Given the description of an element on the screen output the (x, y) to click on. 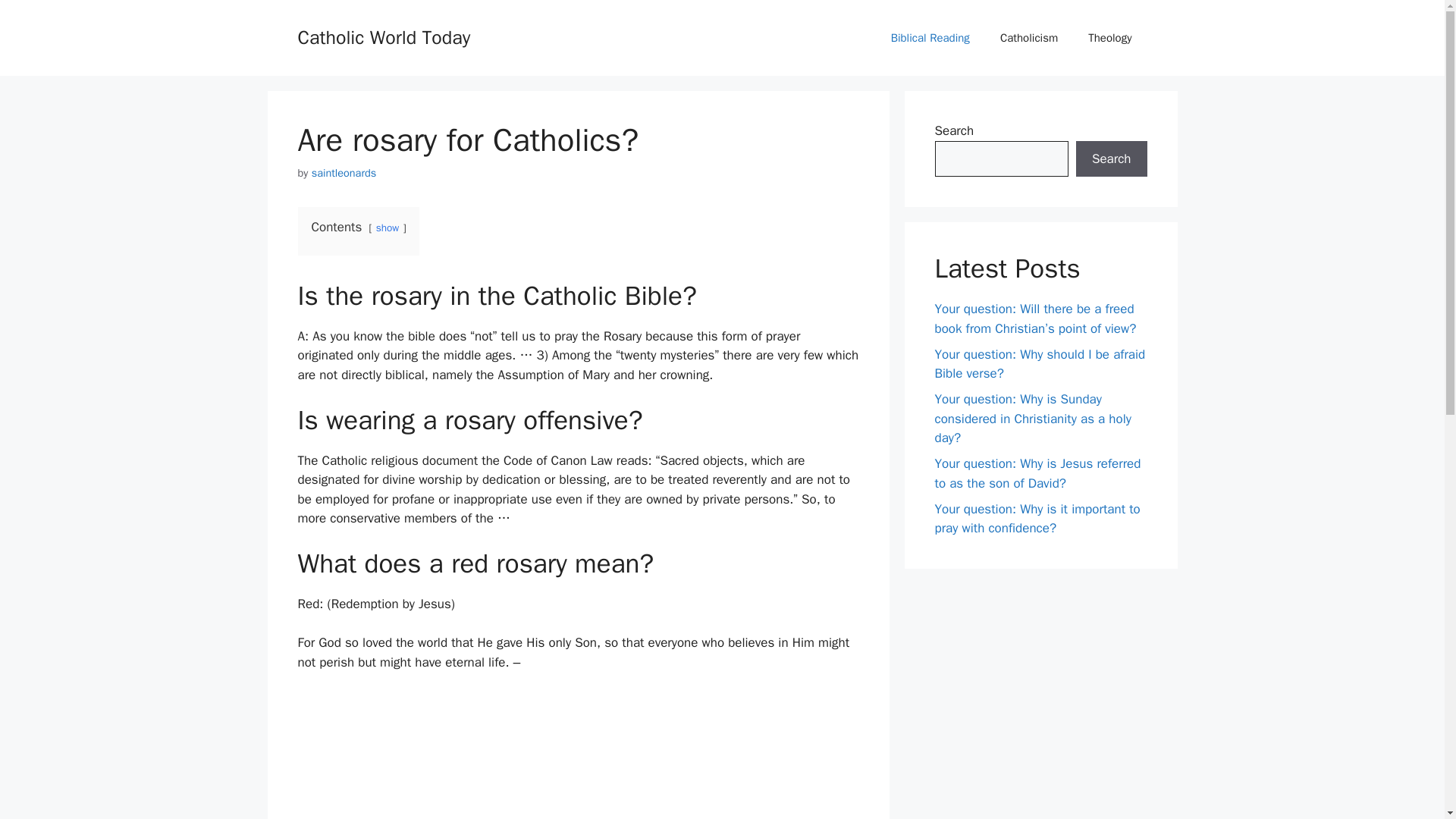
Theology (1110, 37)
saintleonards (344, 172)
Your question: Why is it important to pray with confidence? (1037, 518)
Biblical Reading (930, 37)
Your question: Why should I be afraid Bible verse? (1039, 363)
Catholicism (1029, 37)
show (386, 227)
Catholic World Today (383, 37)
Search (1111, 158)
